Given the description of an element on the screen output the (x, y) to click on. 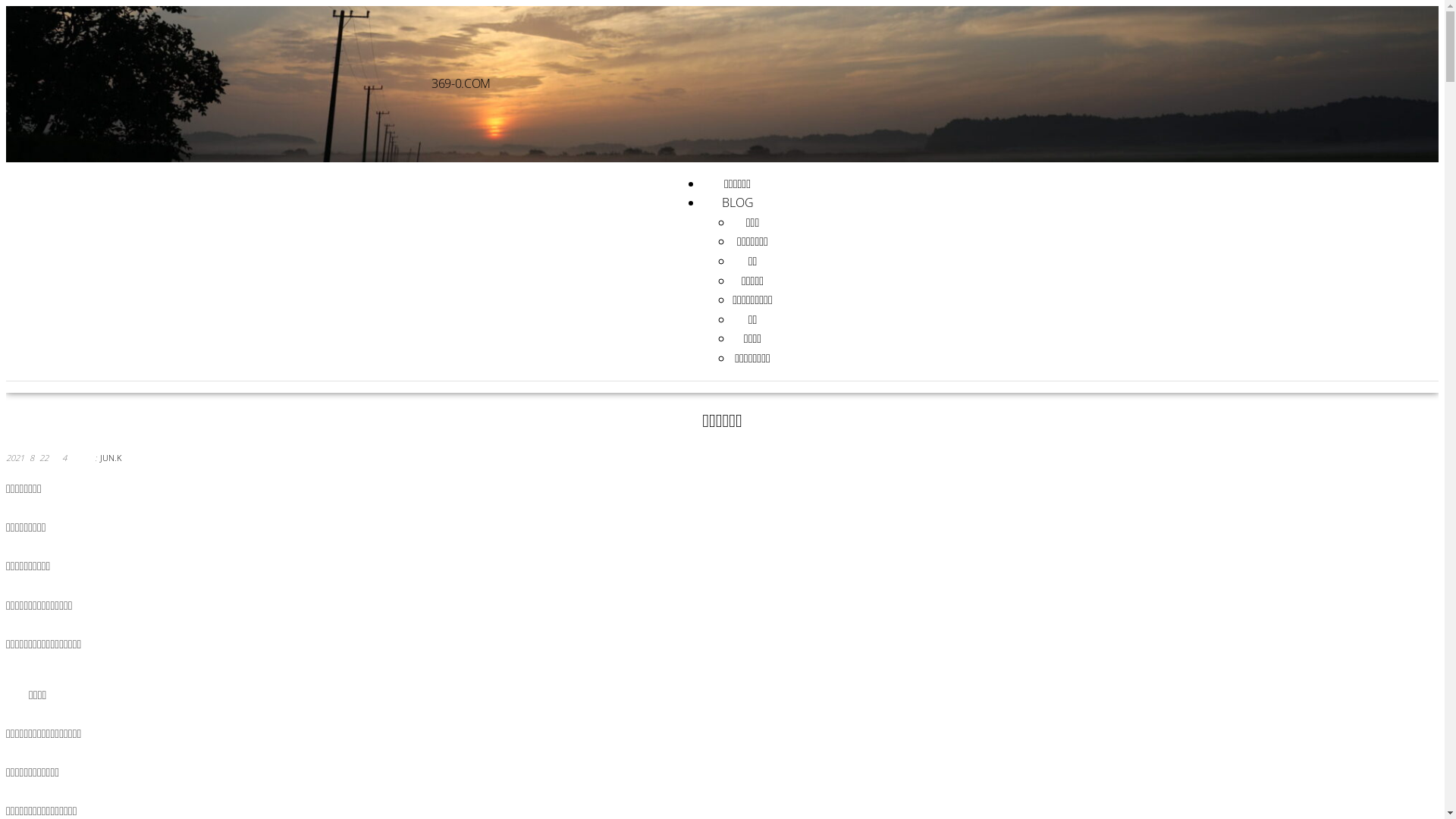
BLOG Element type: text (737, 201)
369-0.COM Element type: text (460, 83)
JUN.K Element type: text (110, 457)
4 Element type: text (67, 457)
